Given the description of an element on the screen output the (x, y) to click on. 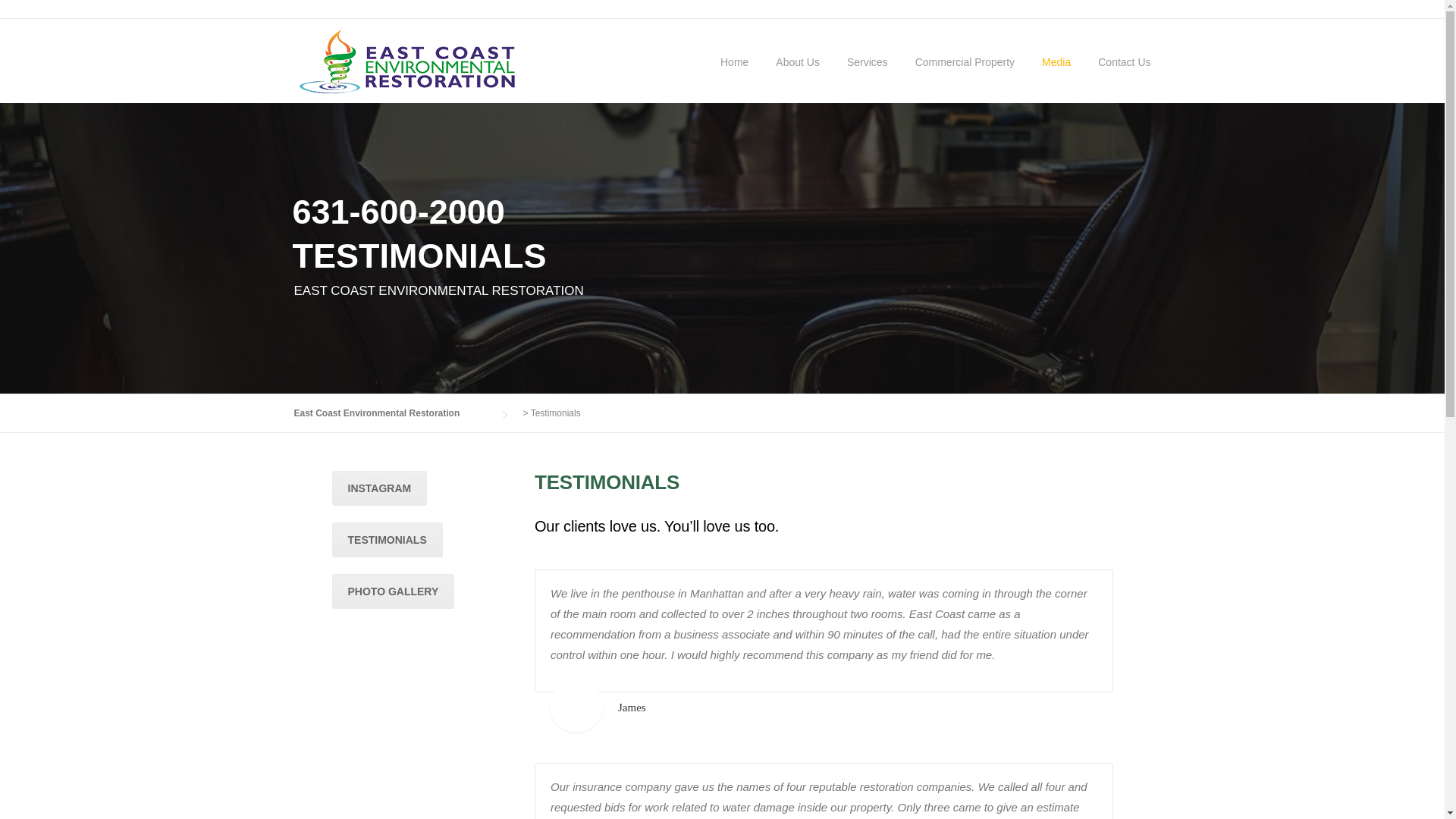
Media (1055, 76)
Home (733, 76)
Skip to content (34, 27)
Commercial Property (964, 76)
Go to East Coast Environmental Restoration. (392, 412)
Services (866, 76)
About Us (796, 76)
East Coast Environmental Restoration (409, 63)
East Coast Environmental Restoration (392, 412)
TESTIMONIALS (386, 539)
INSTAGRAM (379, 488)
PHOTO GALLERY (392, 591)
Contact Us (1117, 76)
